Given the description of an element on the screen output the (x, y) to click on. 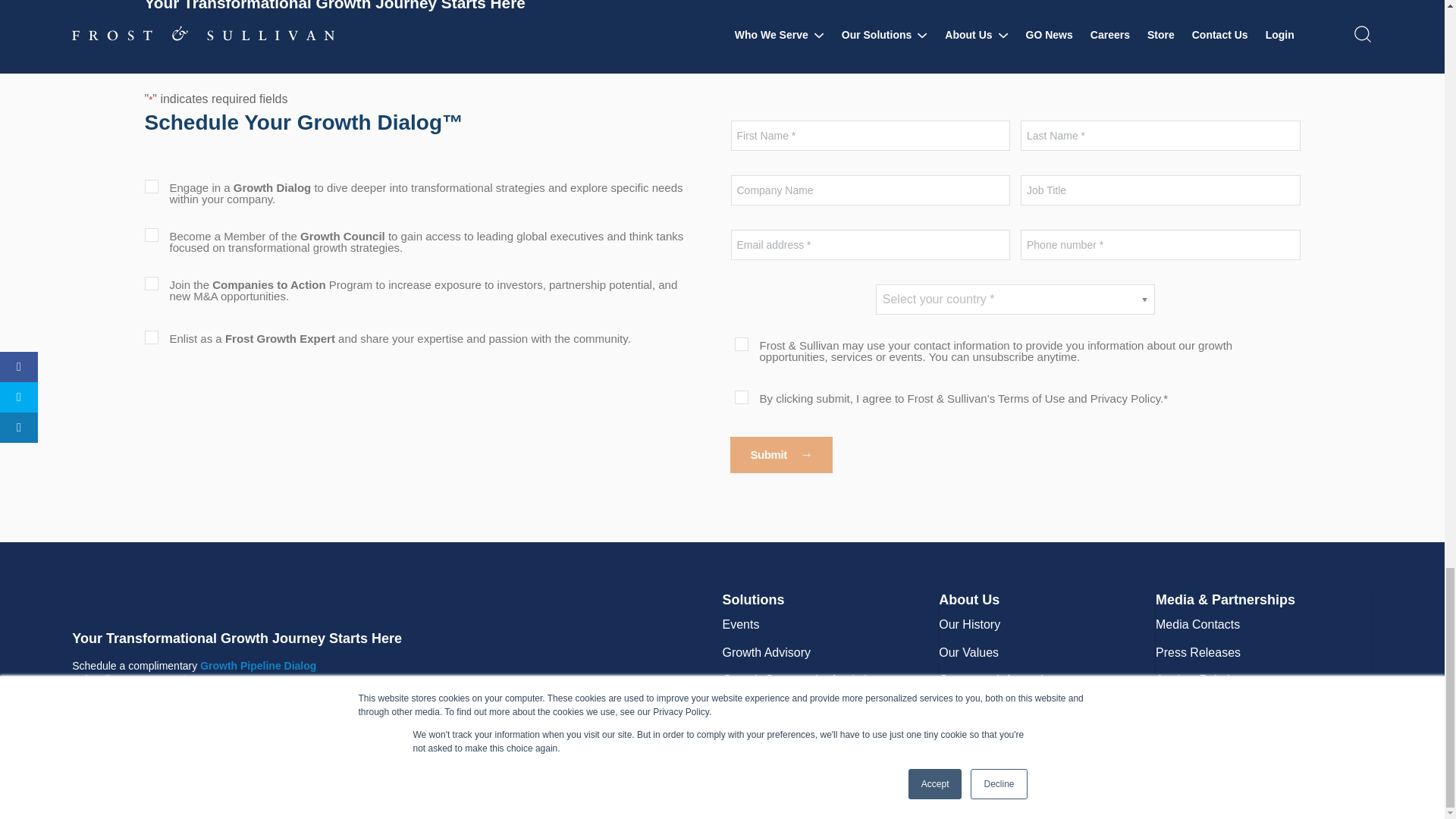
frostsullivanlogo (223, 601)
